Given the description of an element on the screen output the (x, y) to click on. 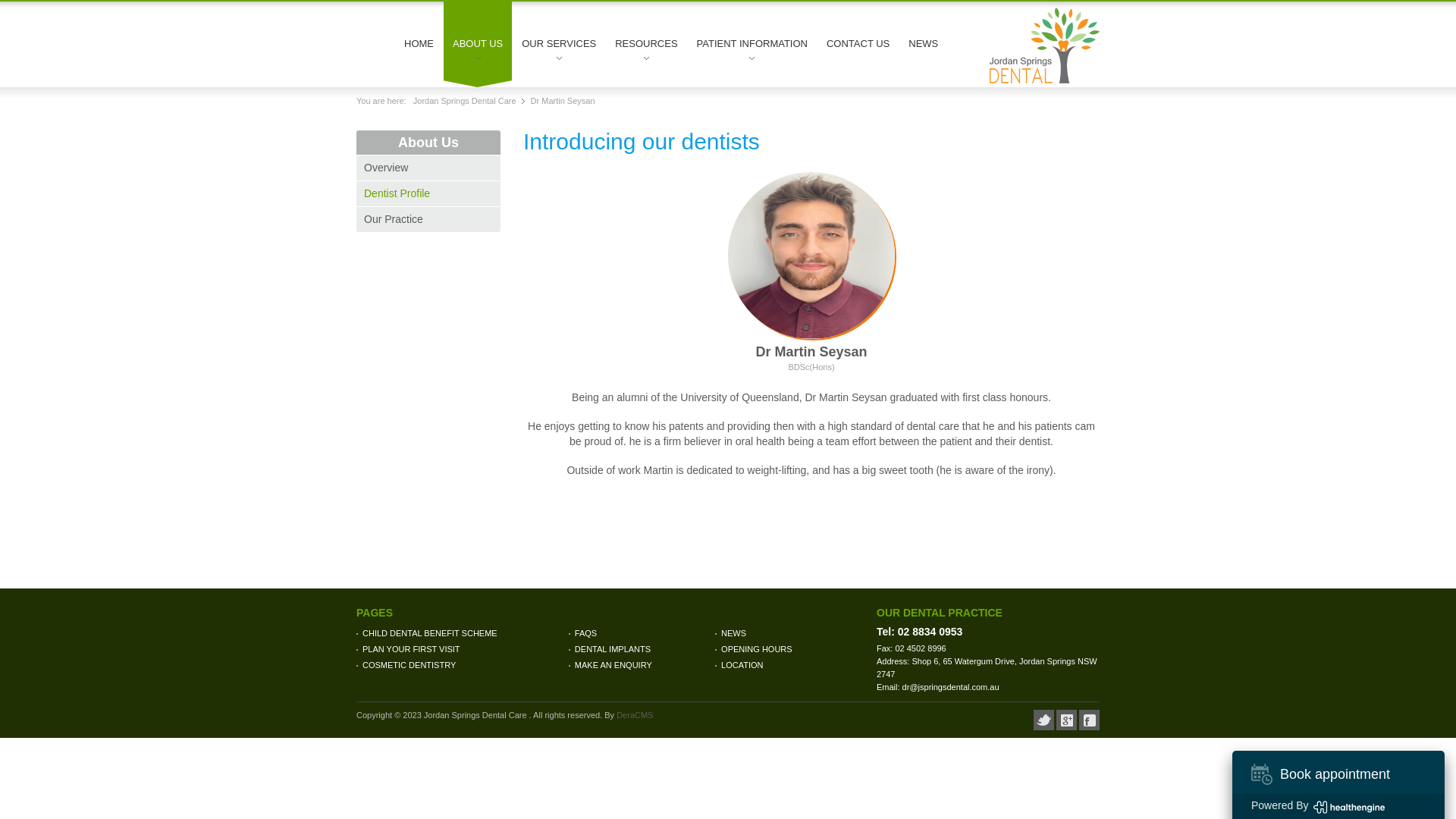
COSMETIC DENTISTRY Element type: text (460, 665)
Our Practice Element type: text (428, 219)
HOME Element type: text (418, 39)
DeraCMS Element type: text (634, 714)
NEWS Element type: text (923, 39)
PATIENT INFORMATION Element type: text (751, 39)
OUR SERVICES Element type: text (558, 39)
Dentist Profile Element type: text (428, 193)
Twitter Element type: text (1043, 719)
CONTACT US Element type: text (857, 39)
FAQS Element type: text (639, 633)
NEWS Element type: text (786, 633)
Google Plus Element type: text (1066, 719)
Facebook Element type: text (1089, 719)
DENTAL IMPLANTS Element type: text (639, 649)
Dr Martin Seysan Element type: text (562, 100)
CHILD DENTAL BENEFIT SCHEME Element type: text (460, 633)
Jordan Springs Dental Care Element type: text (467, 100)
MAKE AN ENQUIRY Element type: text (639, 665)
Overview Element type: text (428, 167)
ABOUT US Element type: text (477, 39)
OPENING HOURS Element type: text (786, 649)
LOCATION Element type: text (786, 665)
PLAN YOUR FIRST VISIT Element type: text (460, 649)
RESOURCES Element type: text (645, 39)
